Given the description of an element on the screen output the (x, y) to click on. 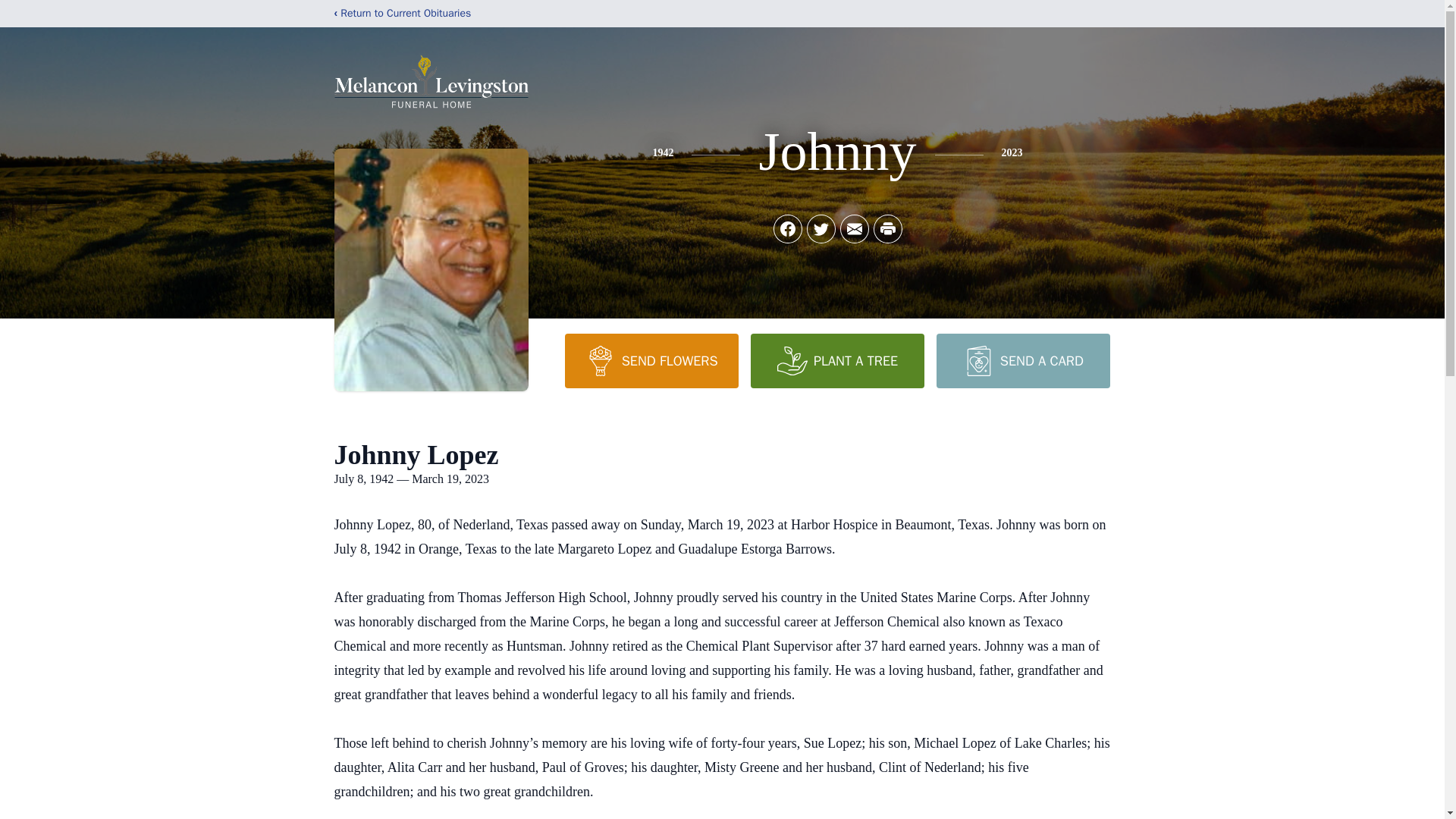
SEND A CARD (1022, 360)
SEND FLOWERS (651, 360)
PLANT A TREE (837, 360)
